Given the description of an element on the screen output the (x, y) to click on. 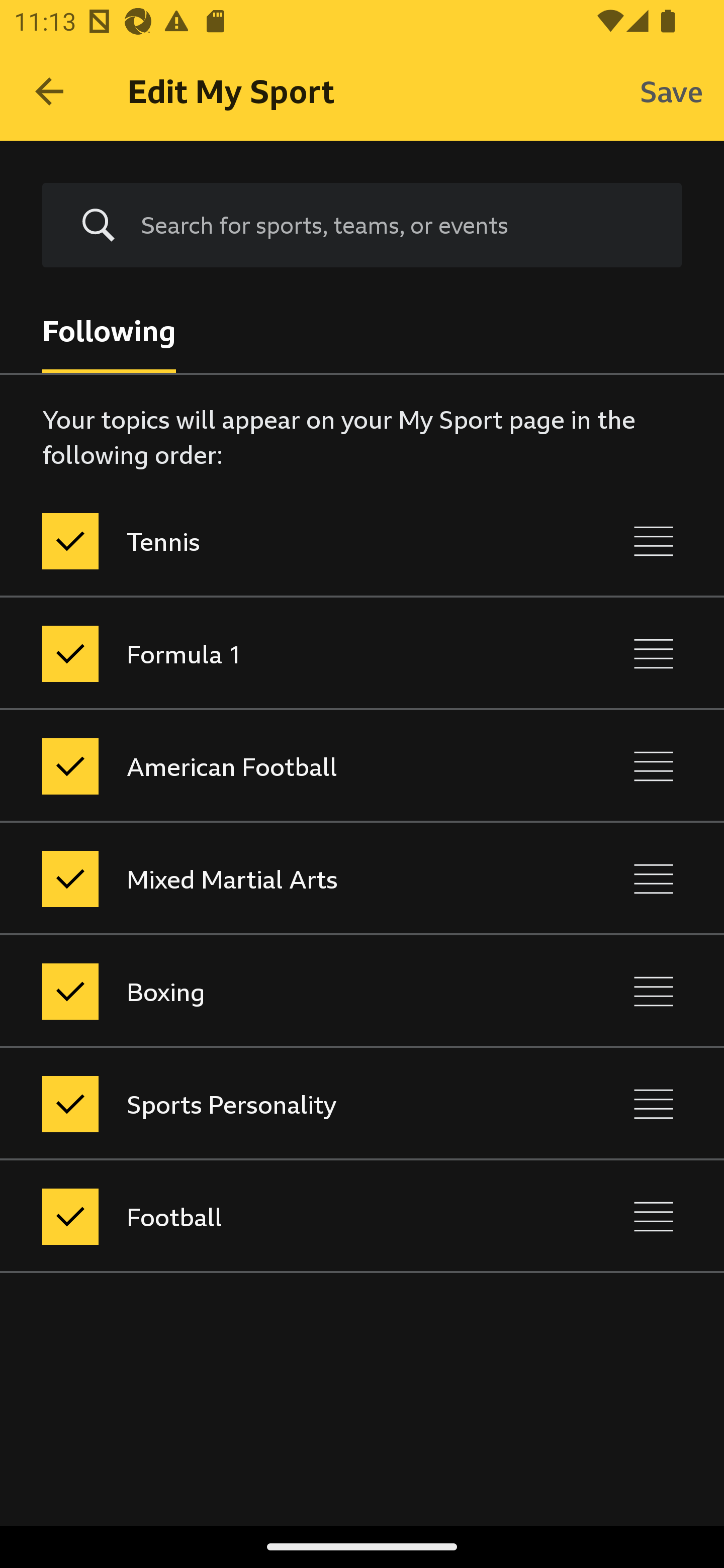
Navigate up (49, 91)
Save (671, 90)
Search for sports, teams, or events (361, 225)
Search for sports, teams, or events (396, 224)
Tennis (277, 540)
Reorder Tennis (653, 540)
Formula 1 (277, 653)
Reorder Formula 1 (653, 653)
American Football (277, 766)
Reorder American Football (653, 766)
Mixed Martial Arts (277, 878)
Reorder Mixed Martial Arts (653, 878)
Boxing (277, 990)
Reorder Boxing (653, 990)
Sports Personality (277, 1103)
Reorder Sports Personality (653, 1103)
Football (277, 1216)
Reorder Football (653, 1216)
